Given the description of an element on the screen output the (x, y) to click on. 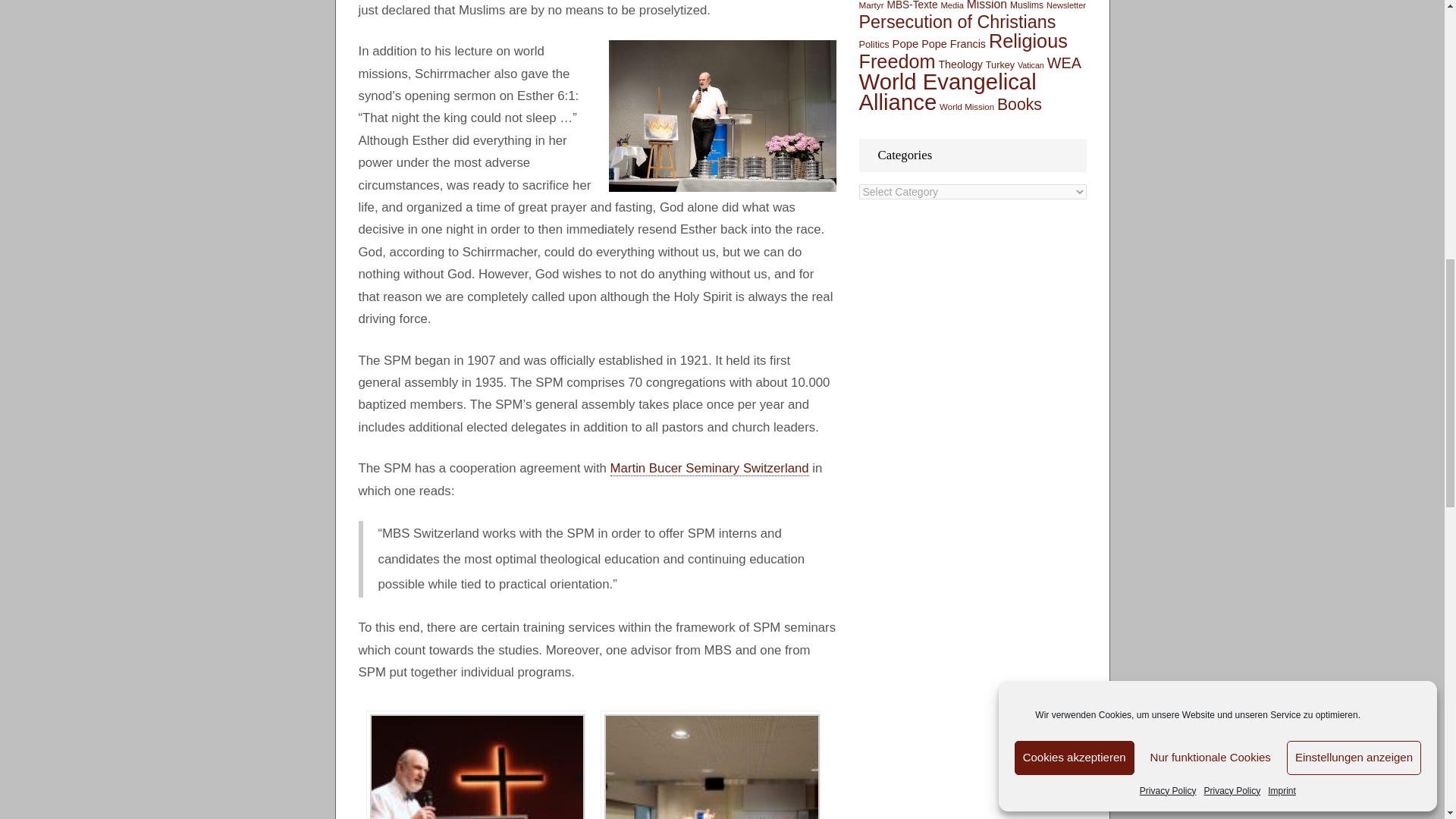
Martin Bucer Seminary Switzerland (709, 468)
